Given the description of an element on the screen output the (x, y) to click on. 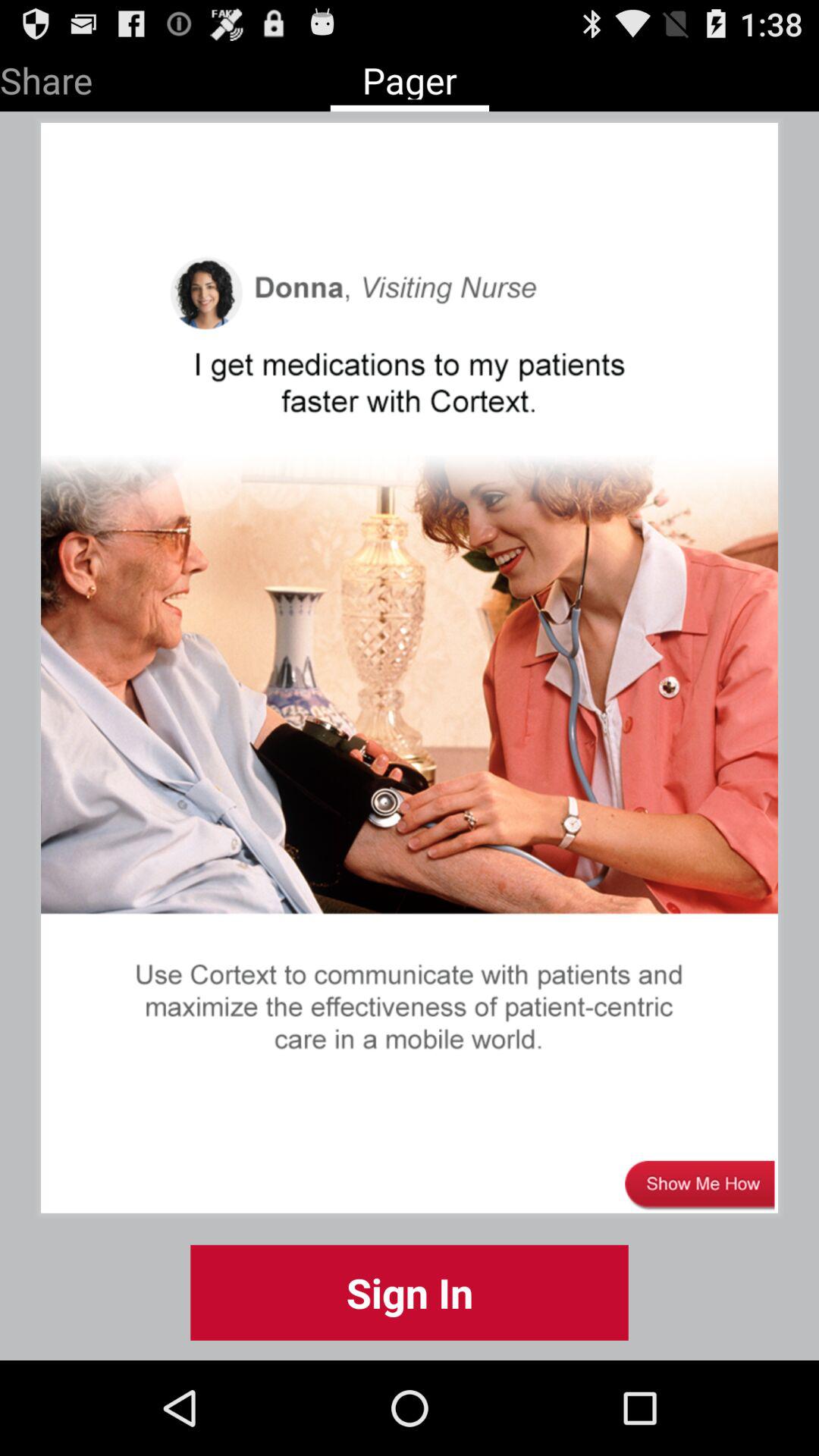
scroll to the share (46, 77)
